Given the description of an element on the screen output the (x, y) to click on. 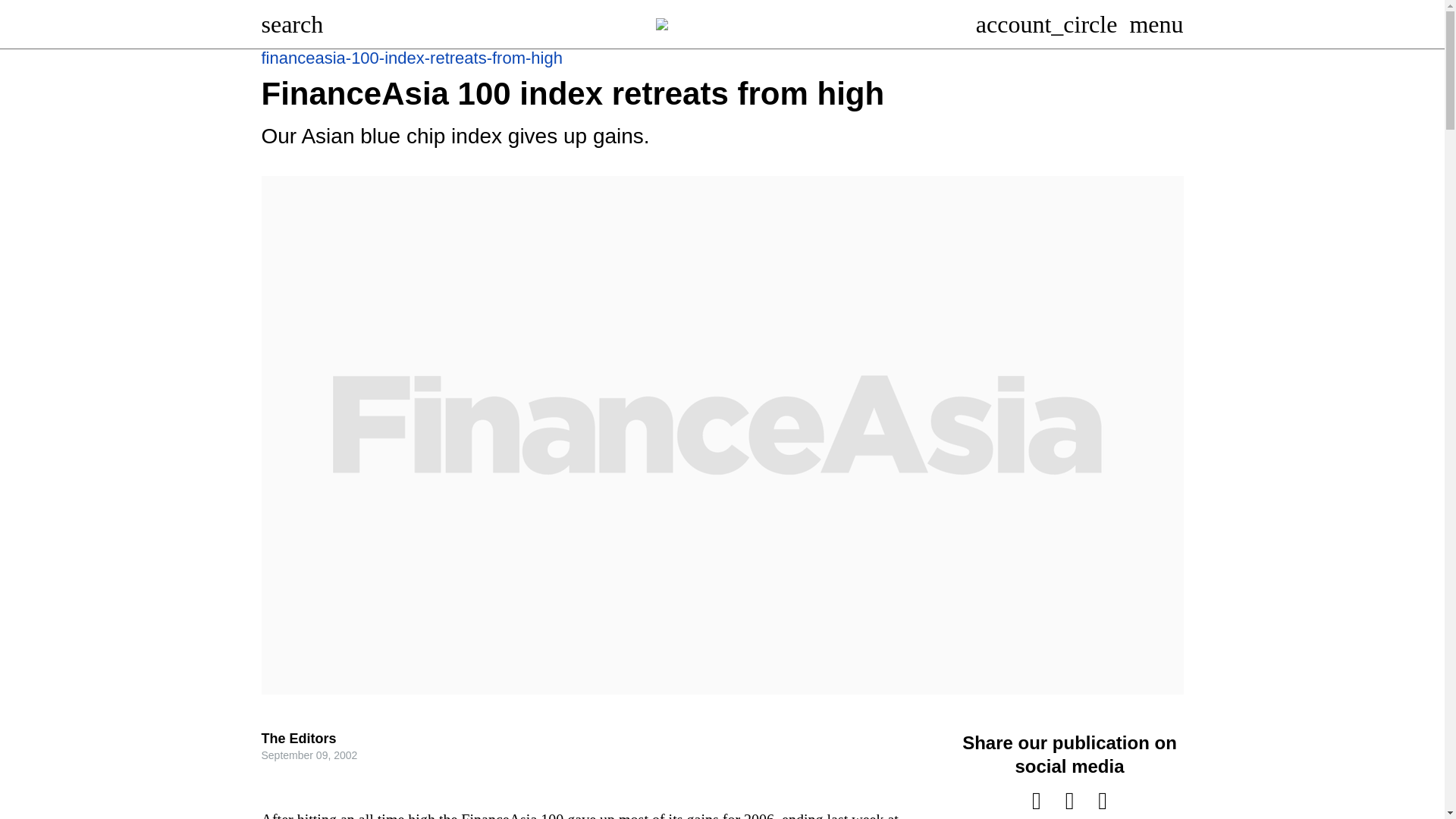
Menu (1155, 24)
The Editors (298, 738)
Search (291, 24)
Sign In (1046, 24)
